Given the description of an element on the screen output the (x, y) to click on. 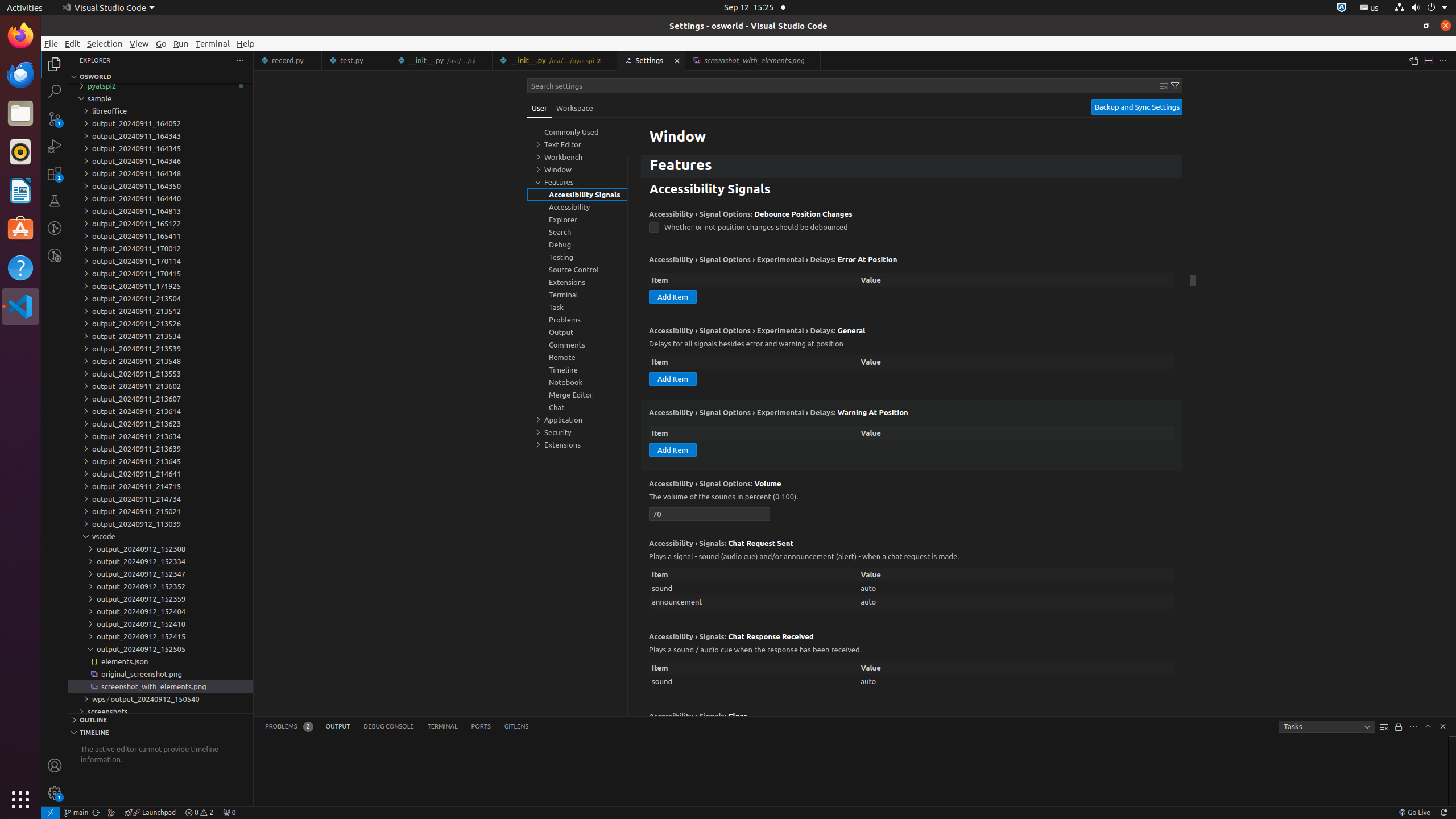
elements.json Element type: tree-item (160, 661)
output_20240911_170415 Element type: tree-item (160, 273)
Workspace Element type: check-box (574, 107)
Run Element type: push-button (181, 43)
output_20240911_164348 Element type: tree-item (160, 173)
